Given the description of an element on the screen output the (x, y) to click on. 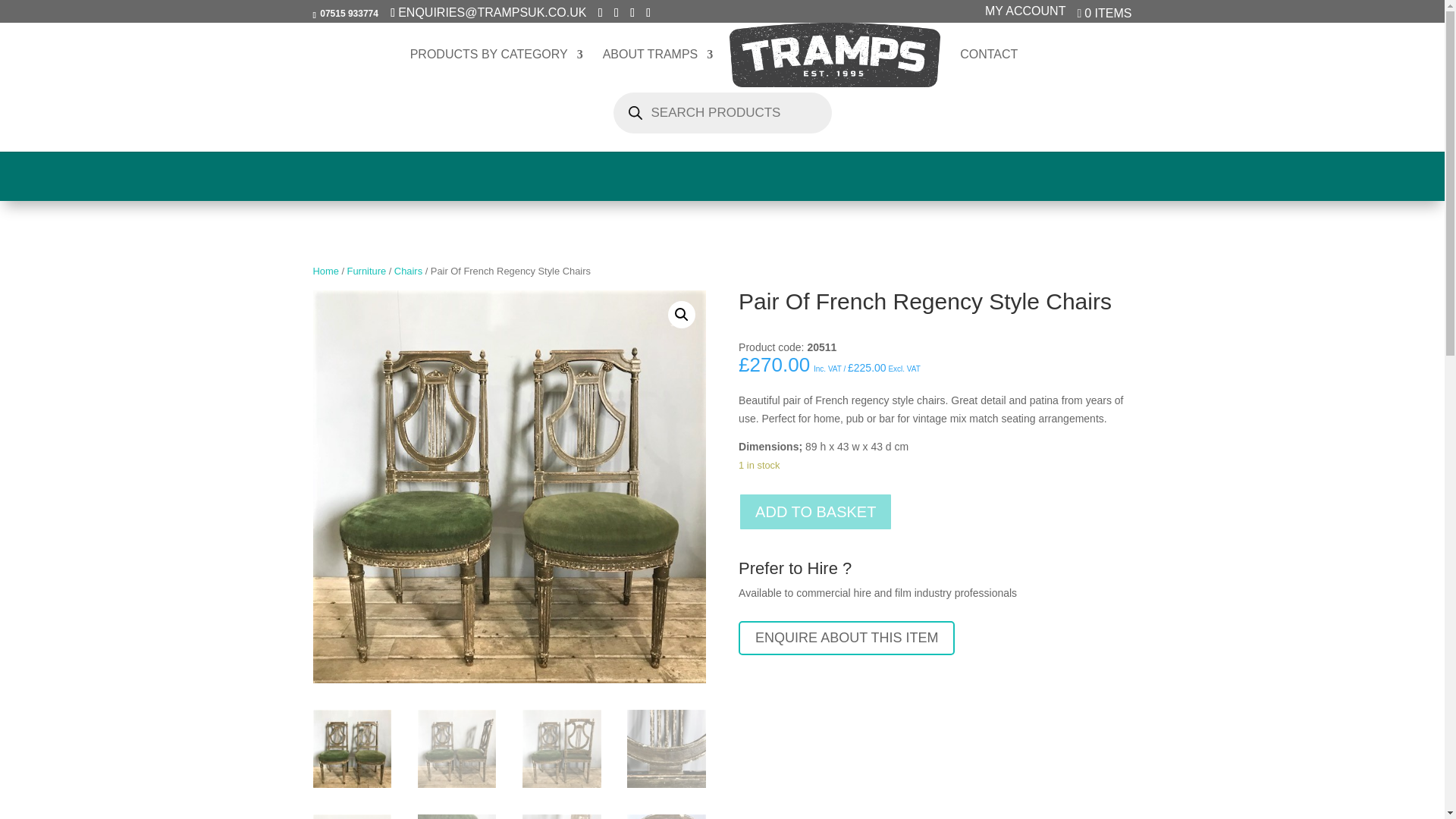
Start shopping (1104, 17)
MY ACCOUNT (1025, 15)
PRODUCTS BY CATEGORY (496, 67)
0 ITEMS (1104, 17)
